Given the description of an element on the screen output the (x, y) to click on. 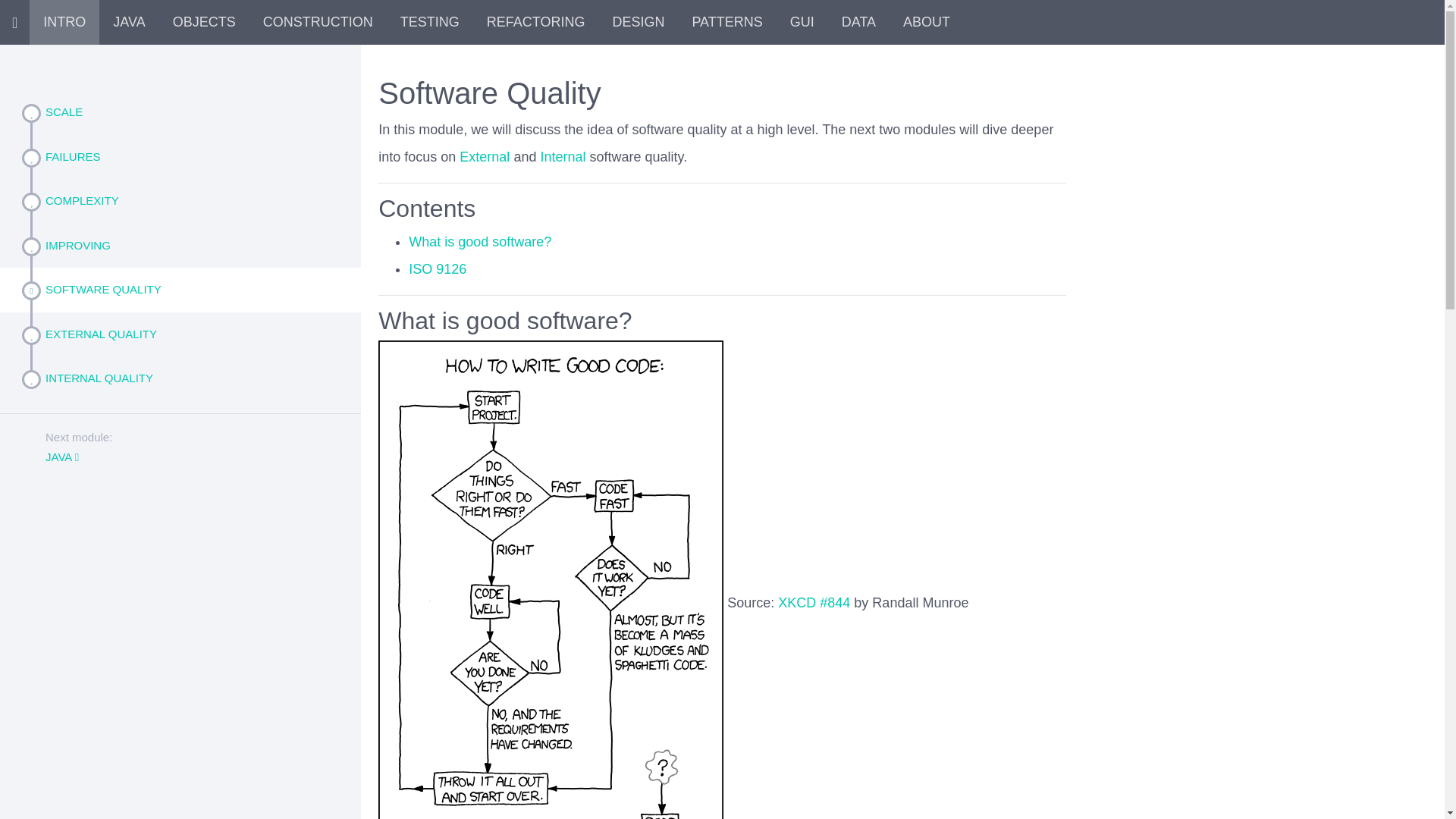
FAILURES (197, 157)
ABOUT (926, 21)
DESIGN (638, 21)
TESTING (430, 21)
REFACTORING (535, 21)
SCALE (197, 112)
IMPROVING (197, 244)
GUI (802, 21)
SOFTWARE QUALITY (197, 289)
COMPLEXITY (197, 201)
